Given the description of an element on the screen output the (x, y) to click on. 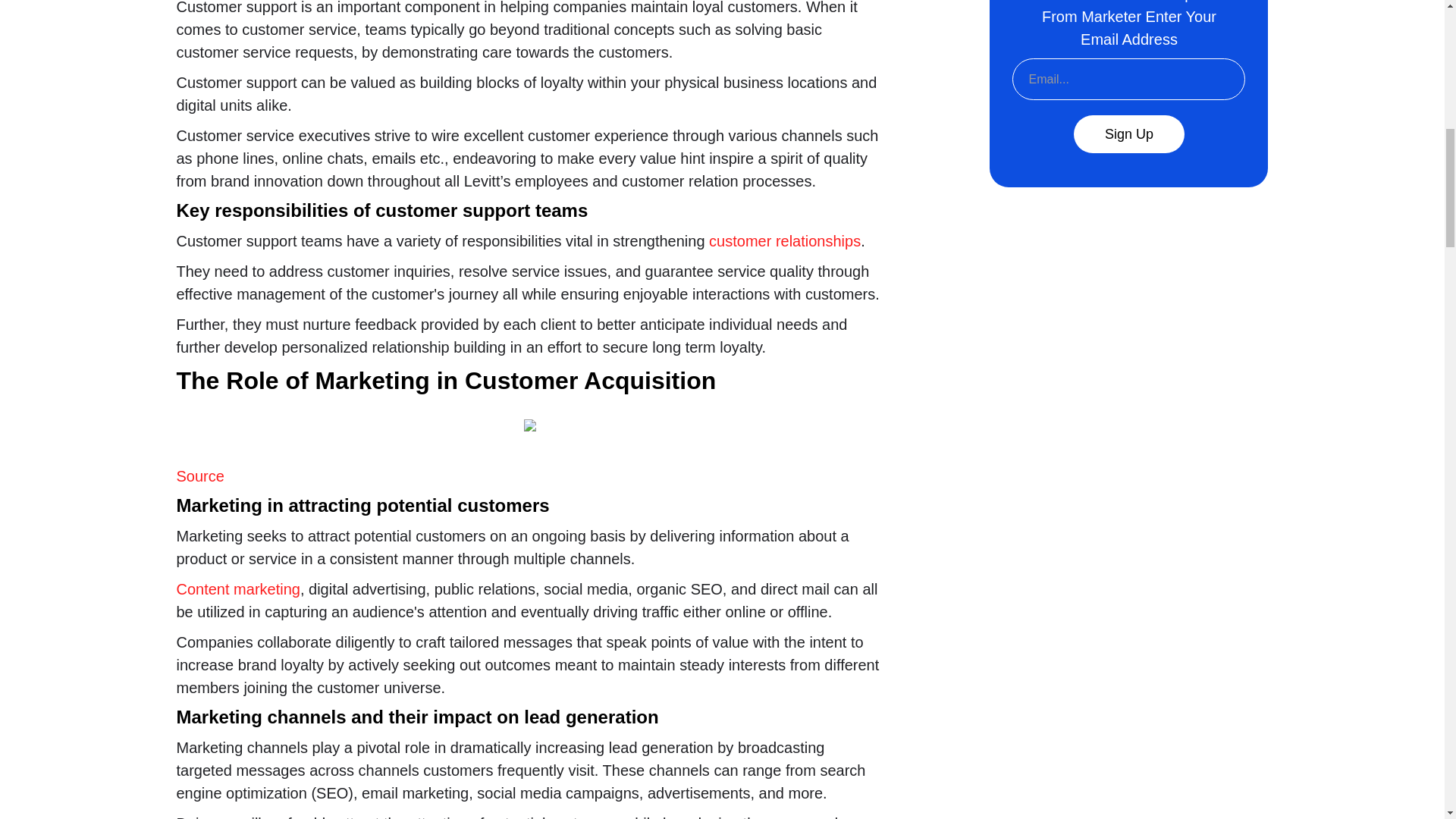
Sign Up (1129, 134)
